Given the description of an element on the screen output the (x, y) to click on. 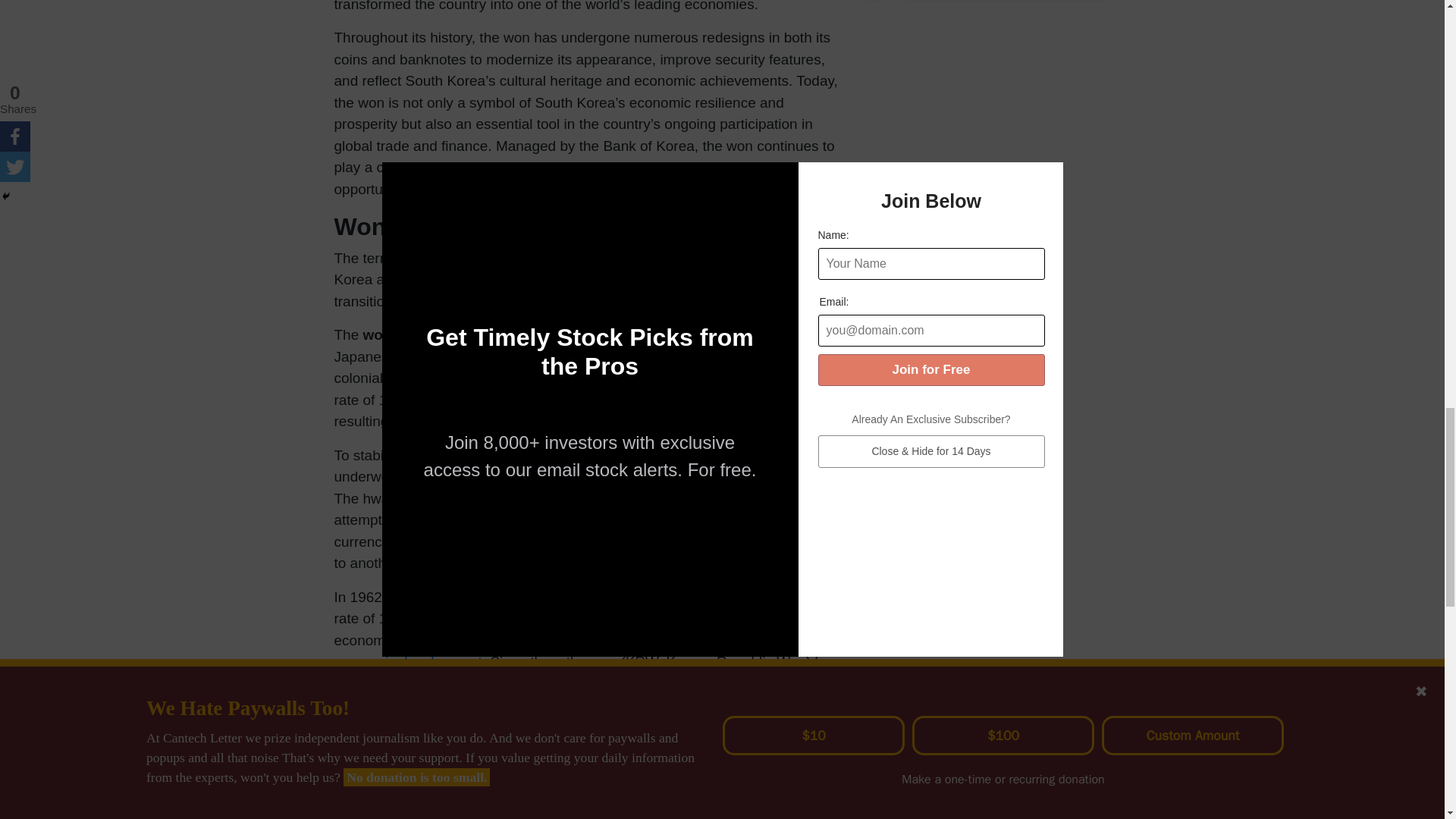
economy and address the inflation (542, 455)
economy and fostering rapid economic development (568, 651)
